Given the description of an element on the screen output the (x, y) to click on. 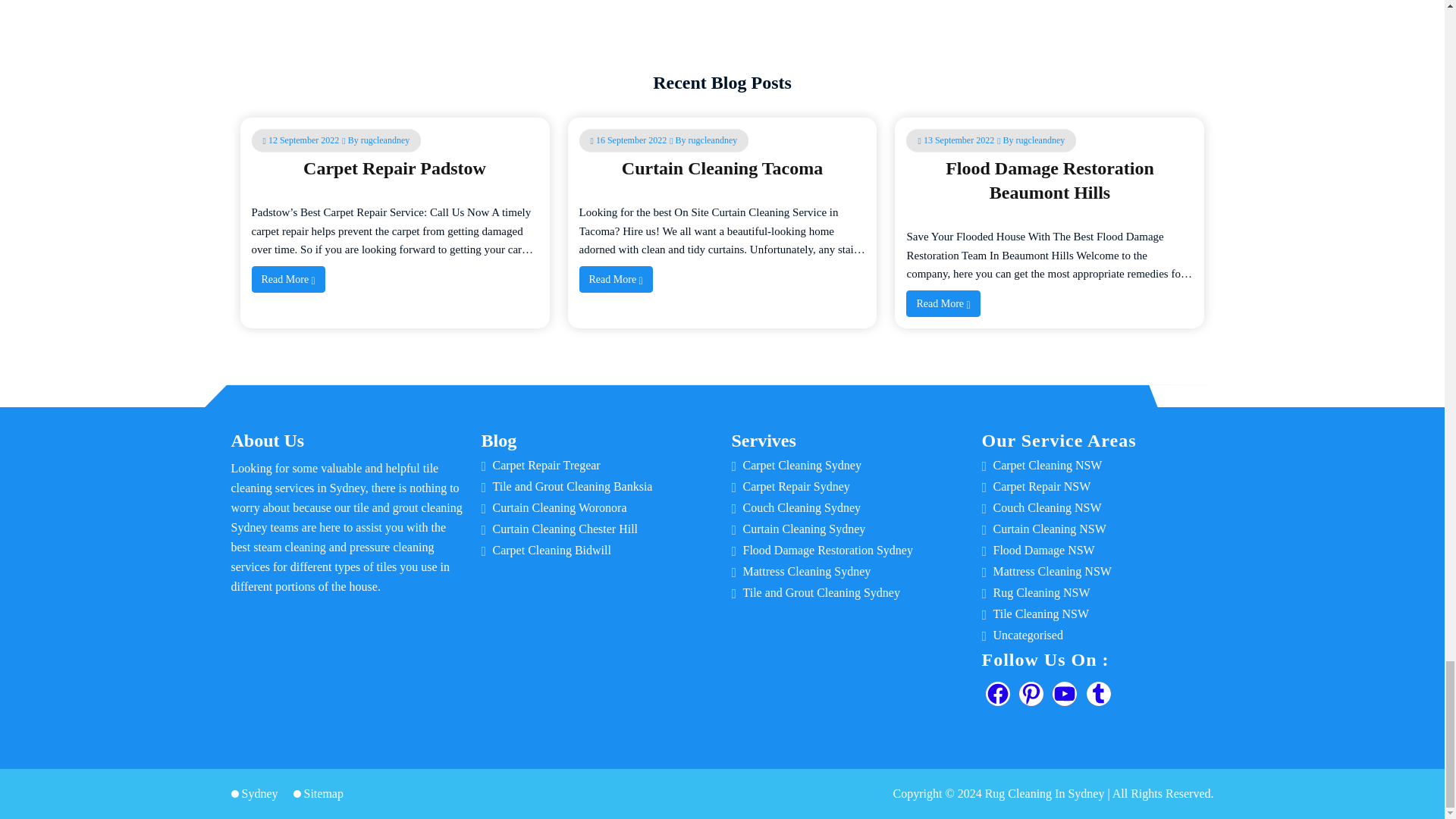
Flood Damage Restoration Beaumont Hills (1049, 180)
Carpet Repair Padstow (394, 168)
Curtain Cleaning Tacoma (721, 168)
Read More (287, 279)
Read More (615, 279)
Curtain Cleaning Tacoma (721, 168)
Carpet Repair Padstow (394, 168)
Flood Damage Restoration Beaumont Hills (1049, 180)
